Given the description of an element on the screen output the (x, y) to click on. 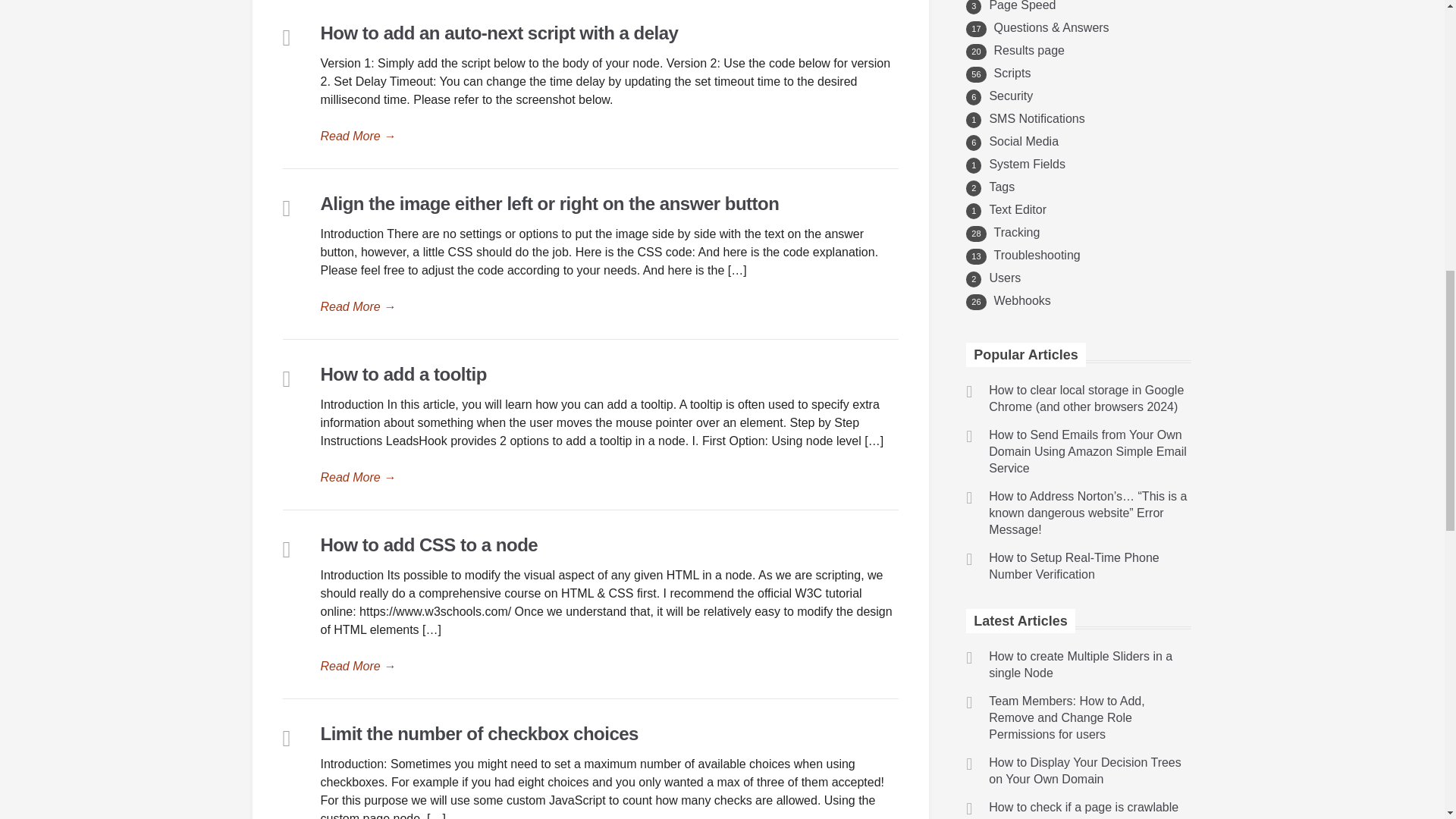
How to add an auto-next script with a delay (609, 136)
Align the image either left or right on the answer button (609, 307)
How to add CSS to a node (609, 666)
How to add an auto-next script with a delay (499, 32)
Align the image either left or right on the answer button (549, 203)
How to add CSS to a node (428, 544)
How to add a tooltip (403, 373)
How to add a tooltip (609, 477)
Limit the number of checkbox choices (478, 733)
